Given the description of an element on the screen output the (x, y) to click on. 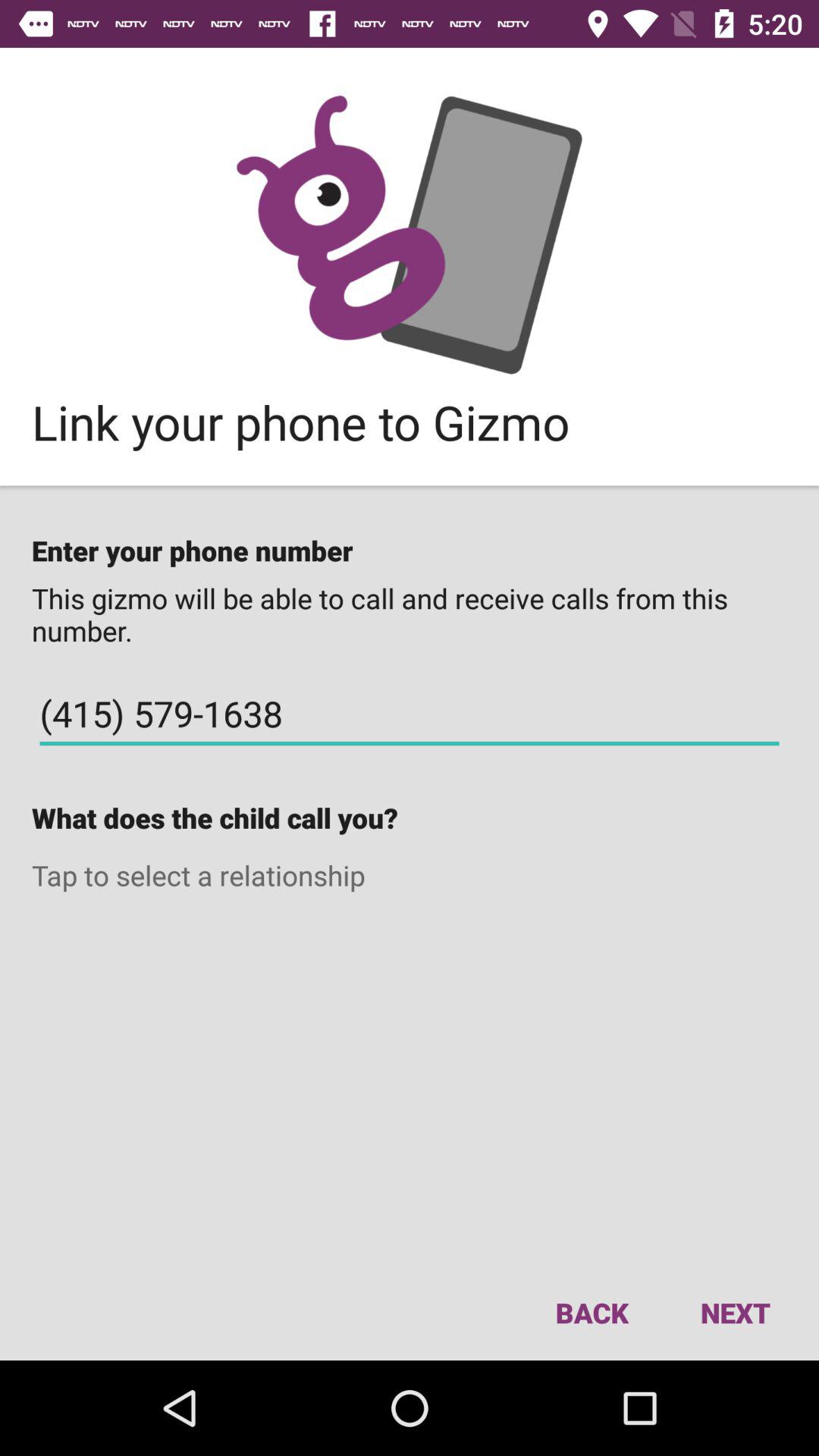
scroll to the back item (591, 1312)
